Given the description of an element on the screen output the (x, y) to click on. 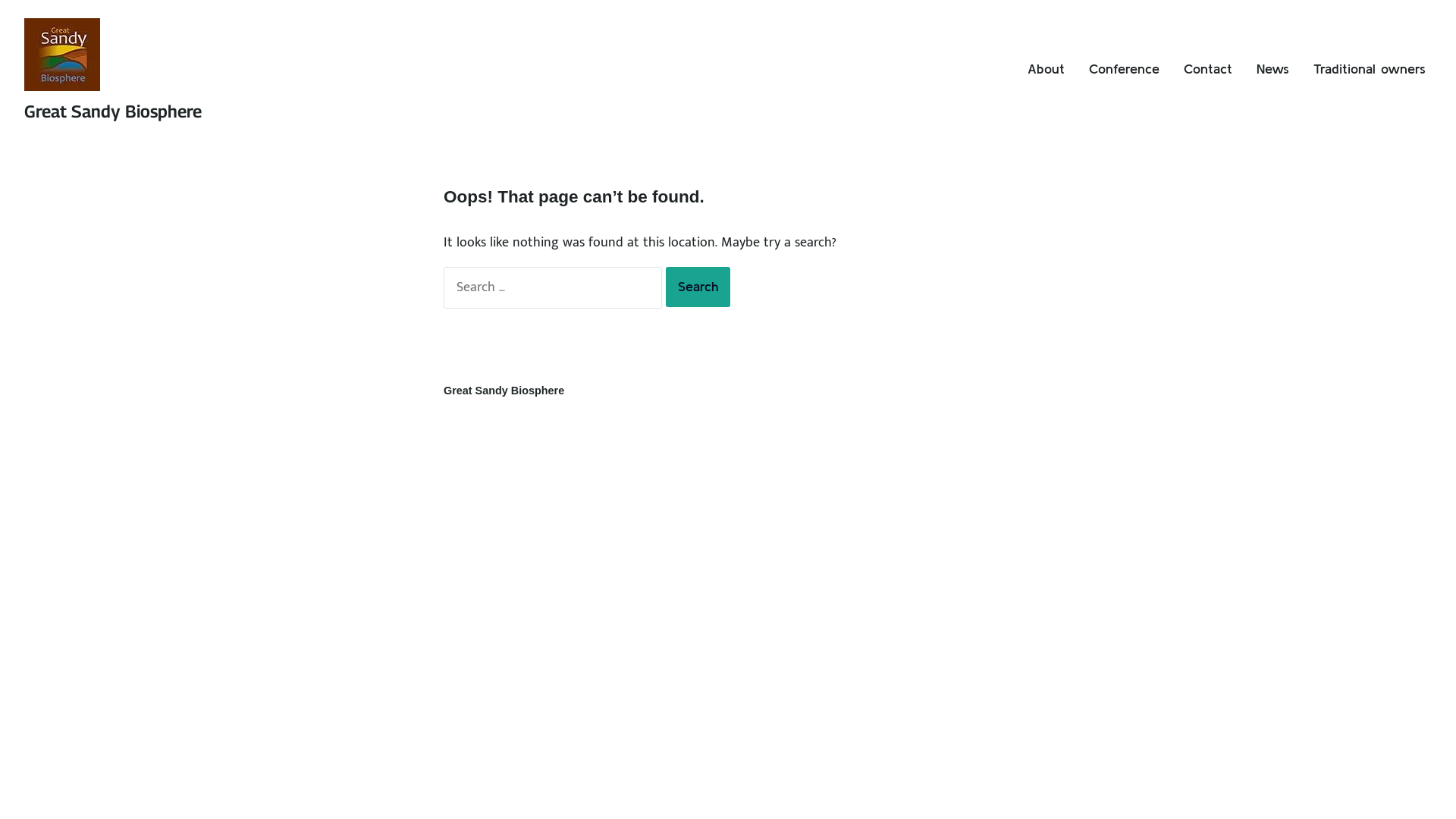
Great Sandy Biosphere Element type: text (112, 110)
Contact Element type: text (1207, 68)
Great Sandy Biosphere Element type: text (503, 389)
About Element type: text (1045, 68)
Conference Element type: text (1123, 68)
Search Element type: text (697, 286)
News Element type: text (1272, 68)
Traditional owners Element type: text (1369, 68)
